Given the description of an element on the screen output the (x, y) to click on. 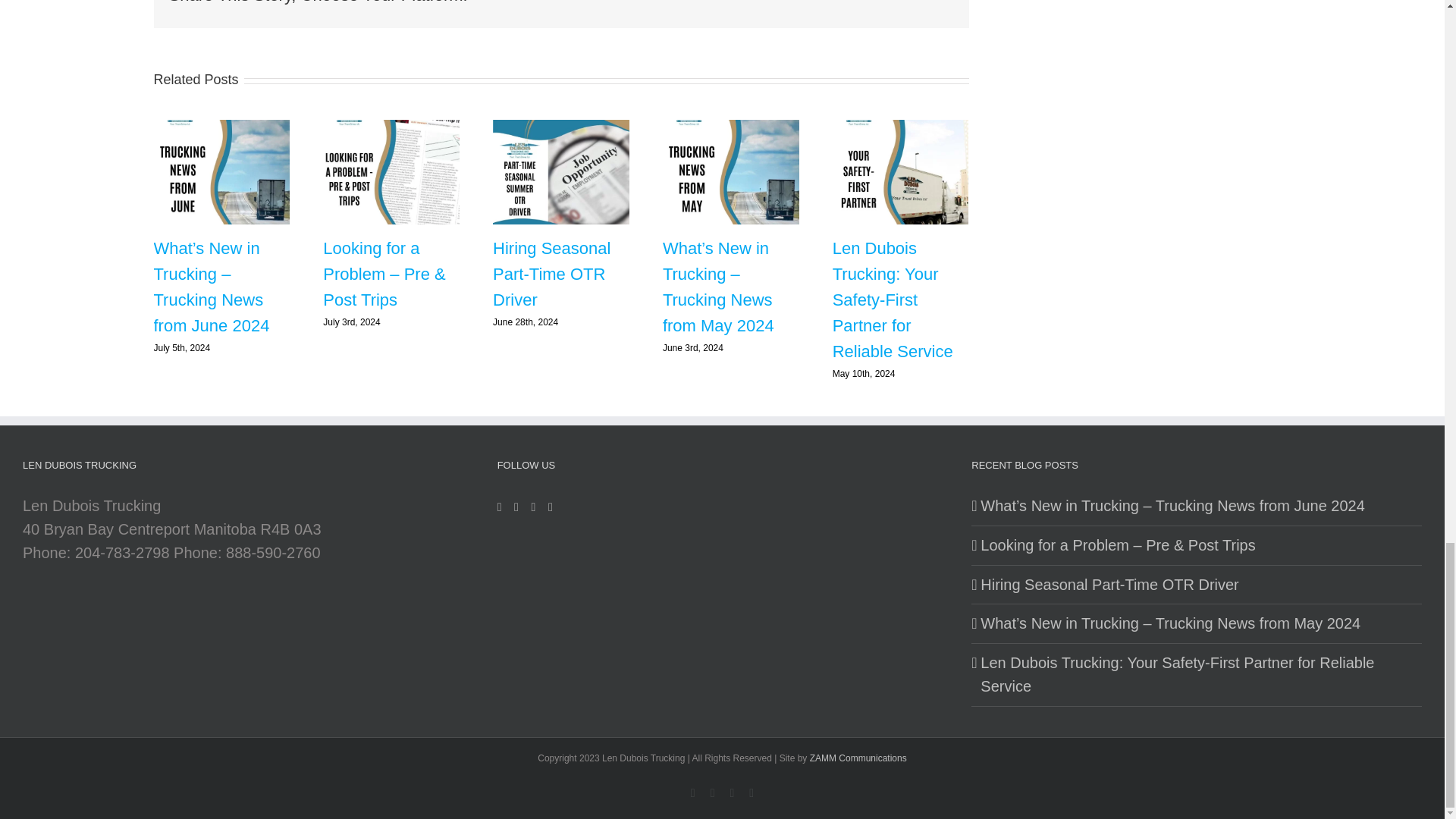
Hiring Seasonal Part-Time OTR Driver (551, 274)
